Given the description of an element on the screen output the (x, y) to click on. 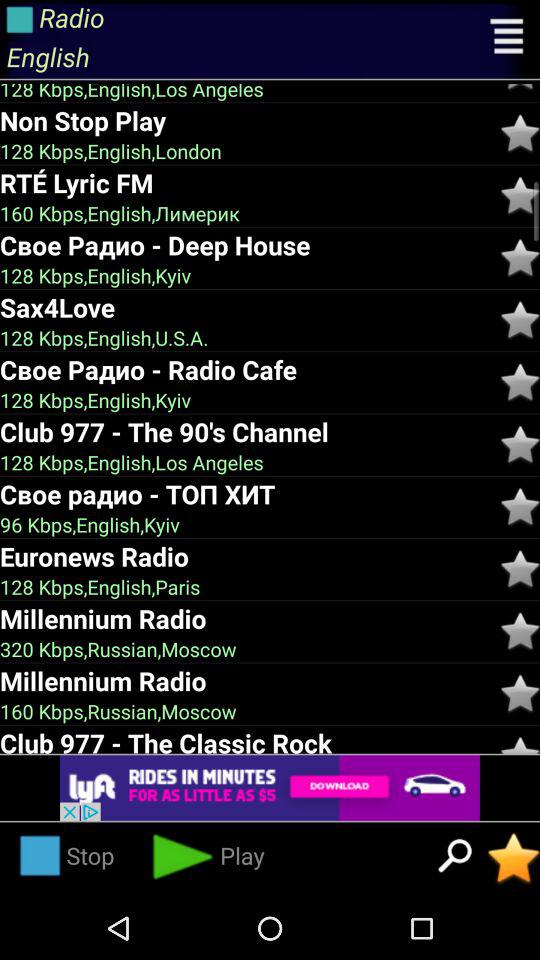
add to favourites (520, 195)
